Given the description of an element on the screen output the (x, y) to click on. 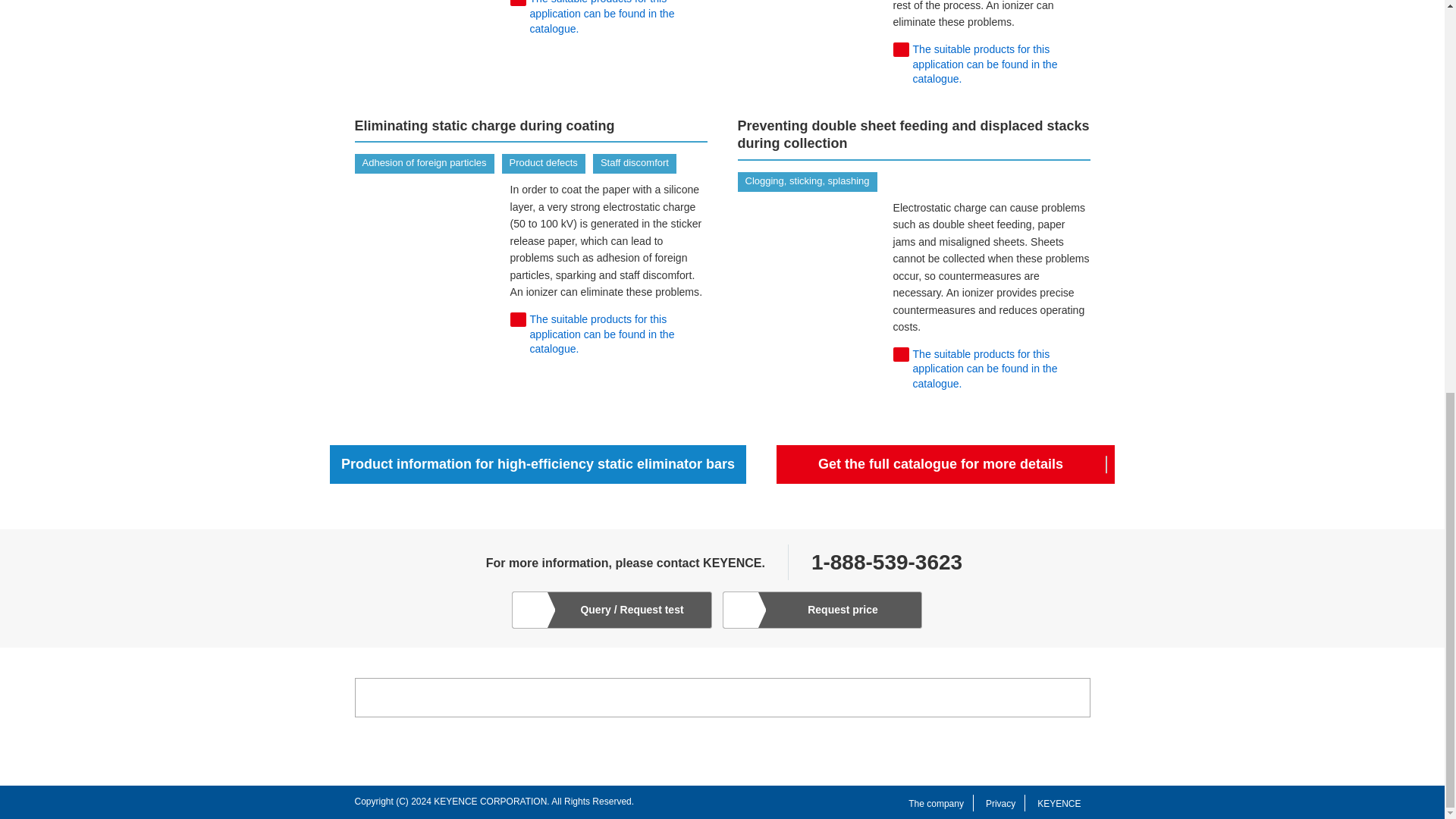
The company (935, 803)
1-888-539-3623 (886, 562)
Privacy (999, 803)
KEYENCE (1058, 803)
Get the full catalogue for more details (945, 464)
Request price (821, 609)
